Given the description of an element on the screen output the (x, y) to click on. 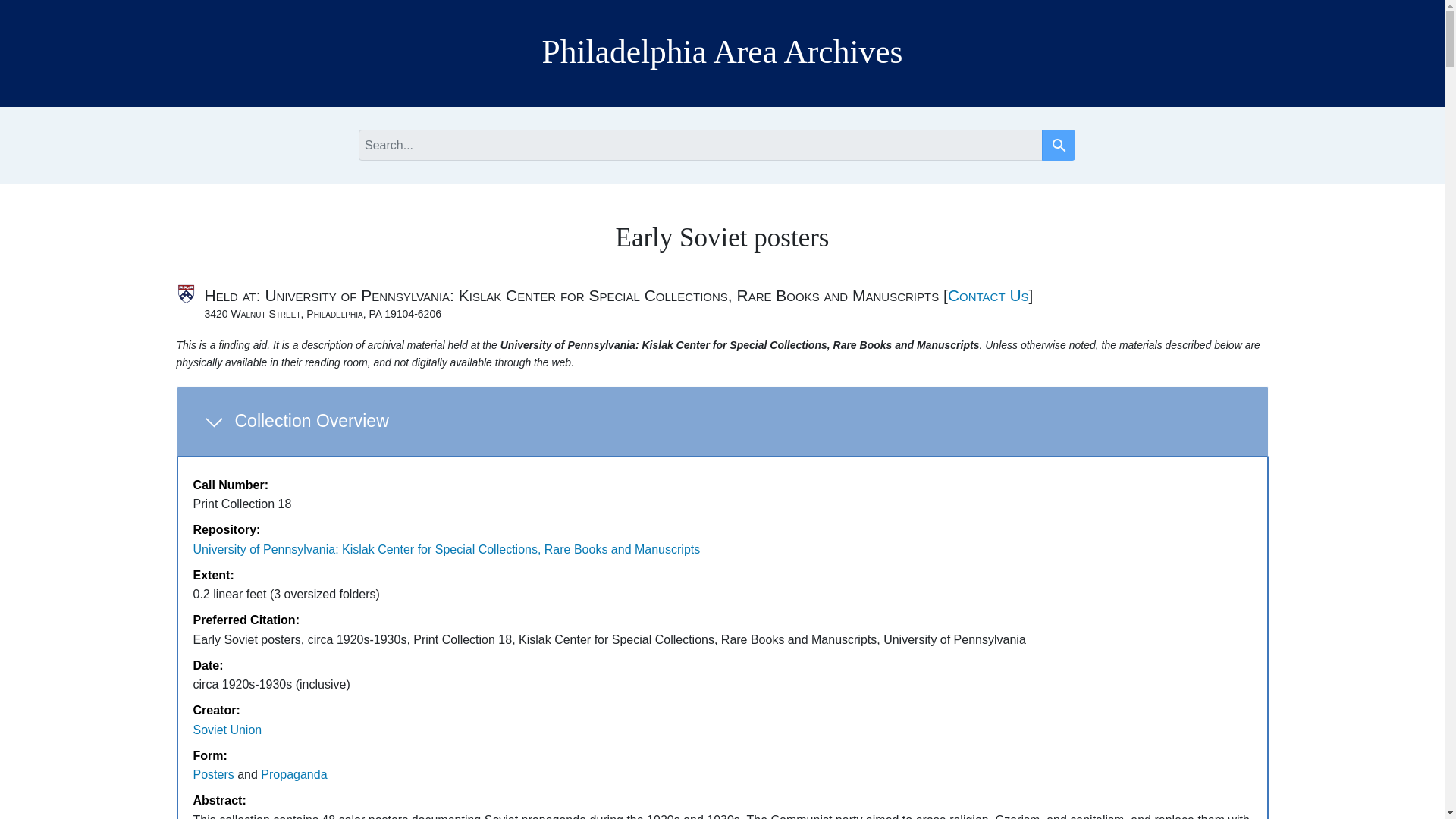
Search (1058, 145)
Contact Us (988, 294)
Posters (212, 774)
Skip to main content (34, 7)
Collection Overview (1058, 144)
Soviet Union (722, 421)
Propaganda (227, 729)
Skip to search (293, 774)
Philadelphia Area Archives (33, 7)
